Given the description of an element on the screen output the (x, y) to click on. 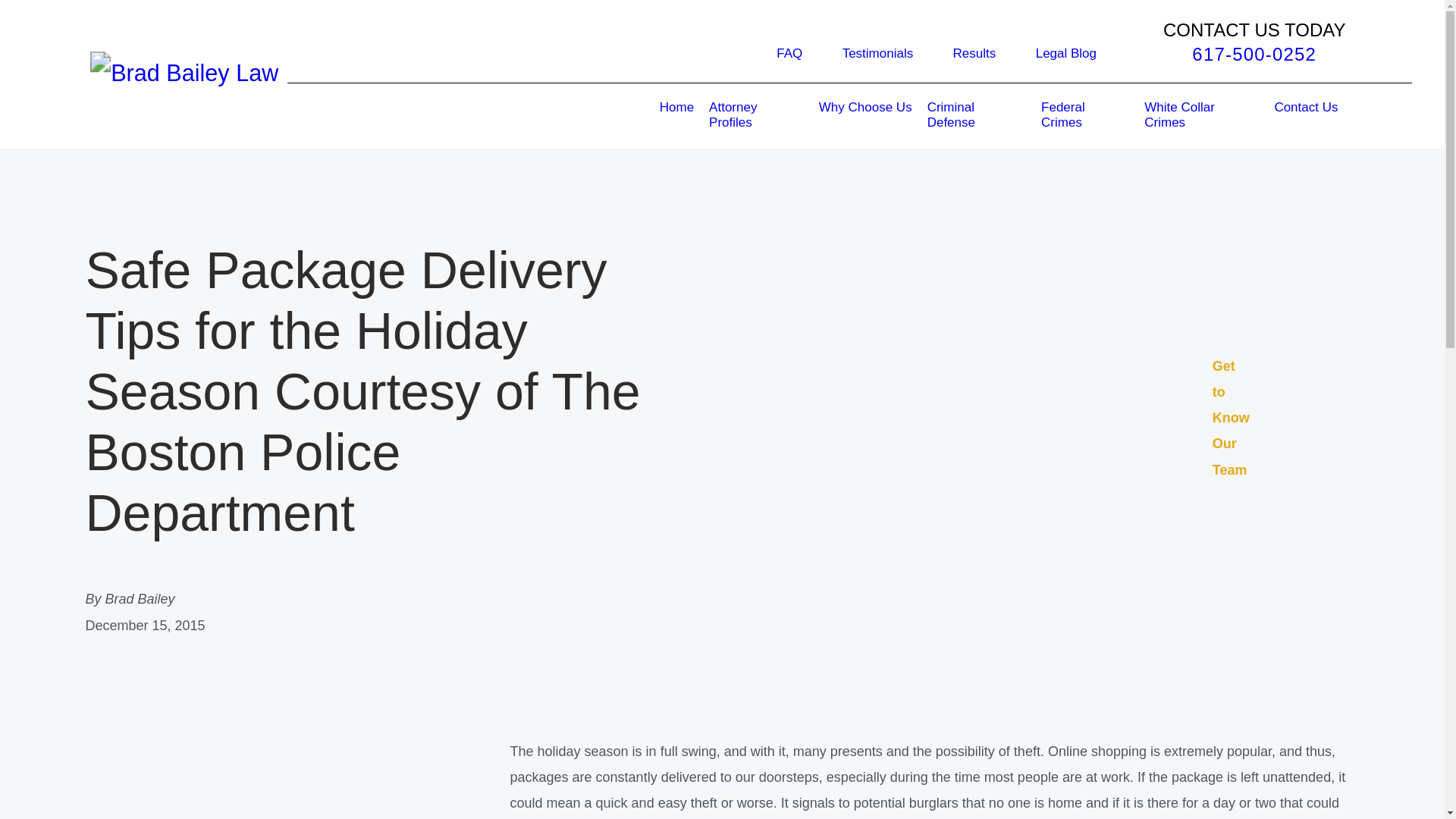
Open the accessibility options menu (1423, 798)
FAQ (789, 52)
Attorney Profiles (745, 115)
Brad Bailey Law (144, 63)
Criminal Defense (965, 115)
617-500-0252 (1254, 55)
Testimonials (878, 52)
Results (974, 52)
Legal Blog (1065, 52)
Why Choose Us (865, 115)
